Given the description of an element on the screen output the (x, y) to click on. 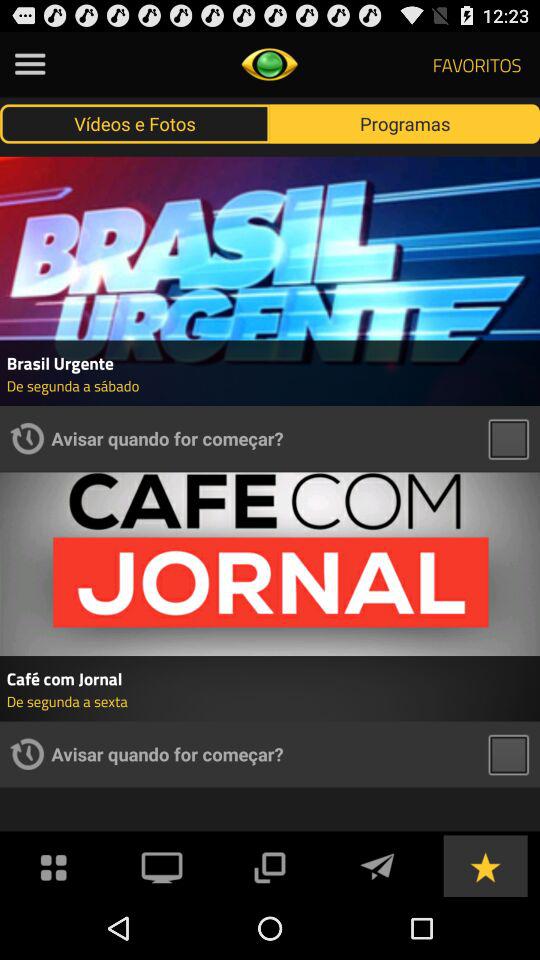
open side menu (29, 64)
